Given the description of an element on the screen output the (x, y) to click on. 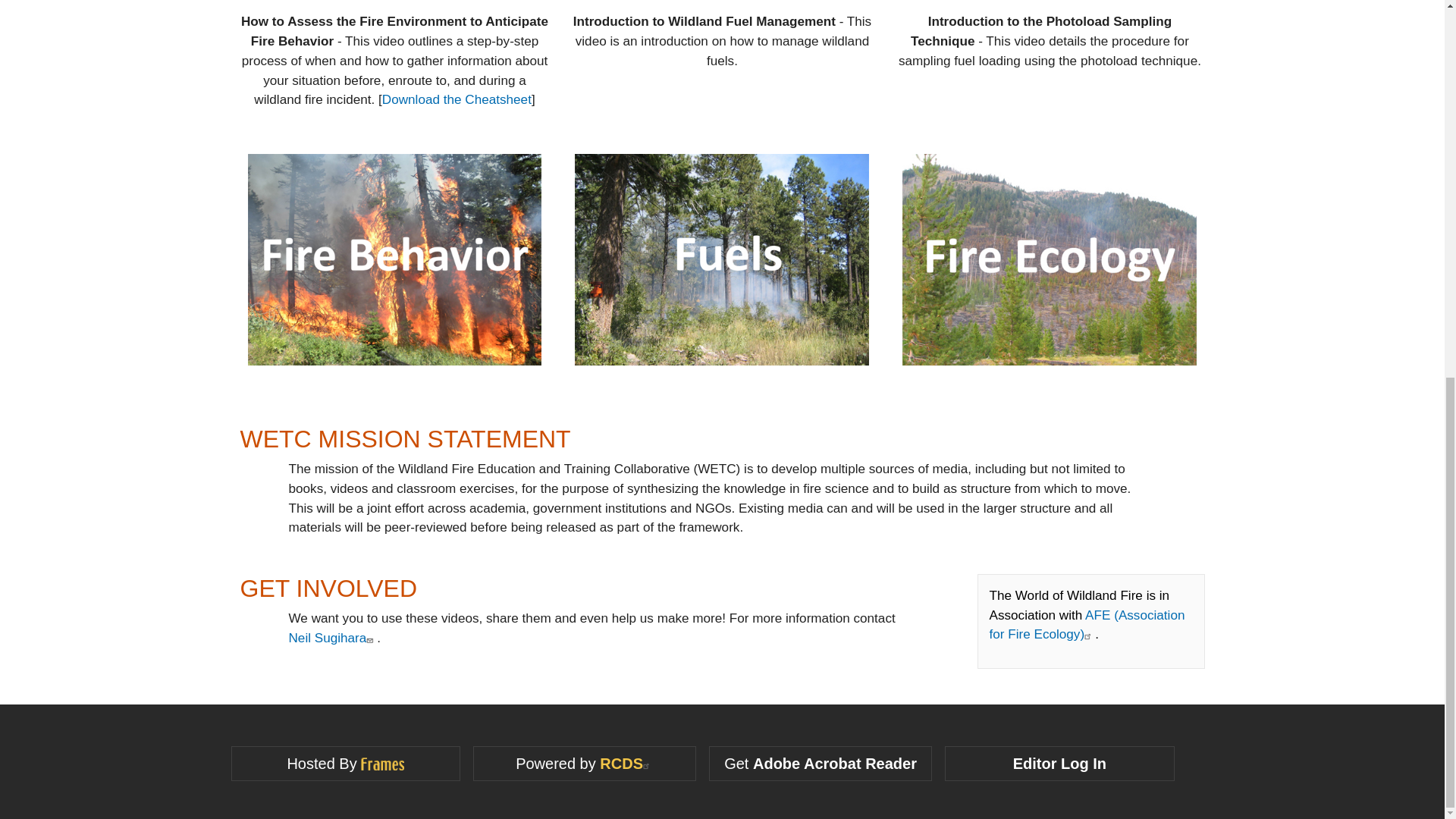
Go to the Association for Fire Ecology website (1086, 624)
Adobe Acrobat Reader (834, 763)
Editor Log In (1059, 763)
Go to the Adobe Acrobat Reader website (834, 763)
Download the Cheatsheet (456, 99)
Email Neil Sugihara (332, 637)
